Given the description of an element on the screen output the (x, y) to click on. 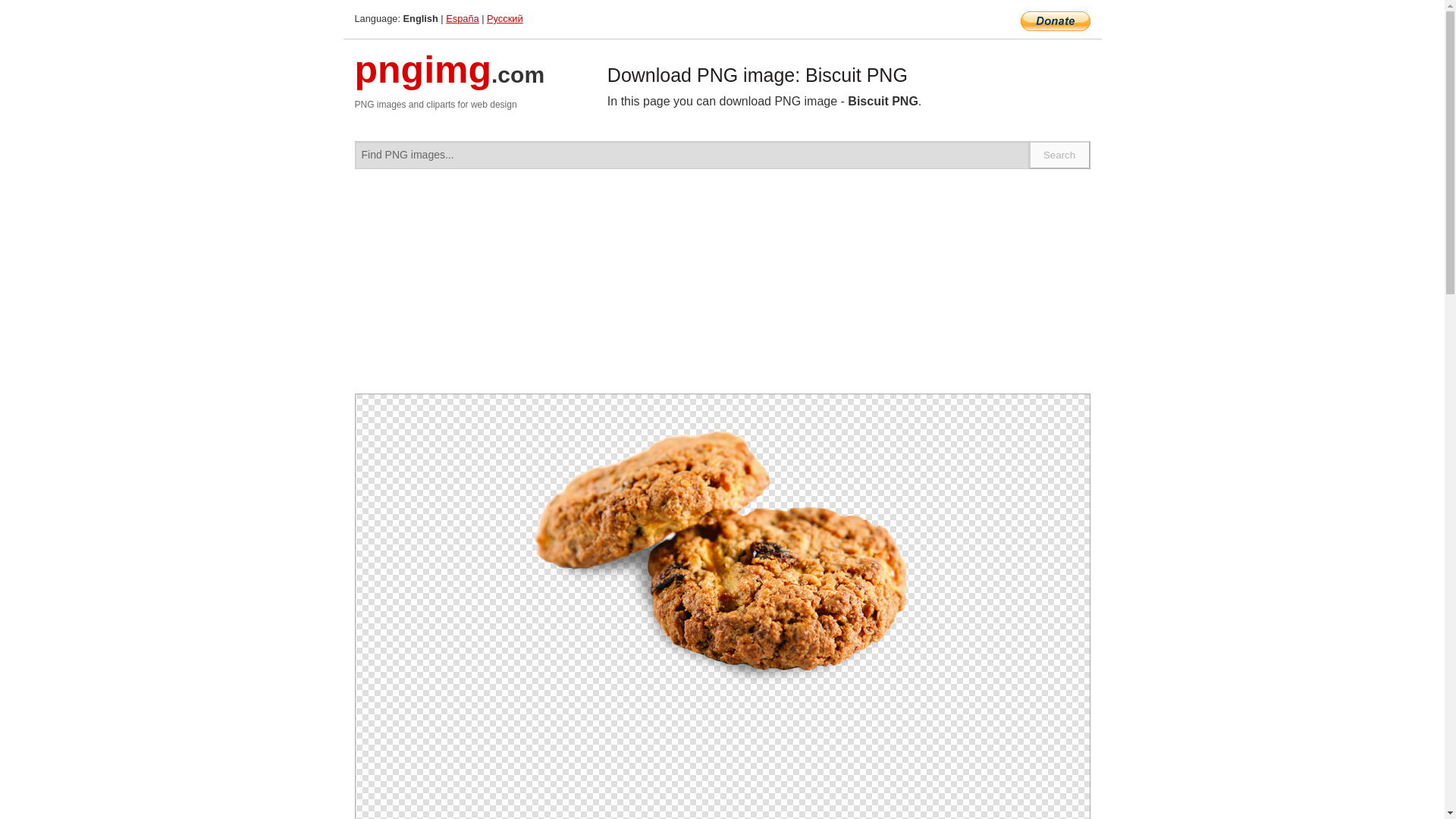
Search (1059, 154)
pngimg.com (449, 78)
Biscuit PNG (722, 552)
Search (1059, 154)
